Given the description of an element on the screen output the (x, y) to click on. 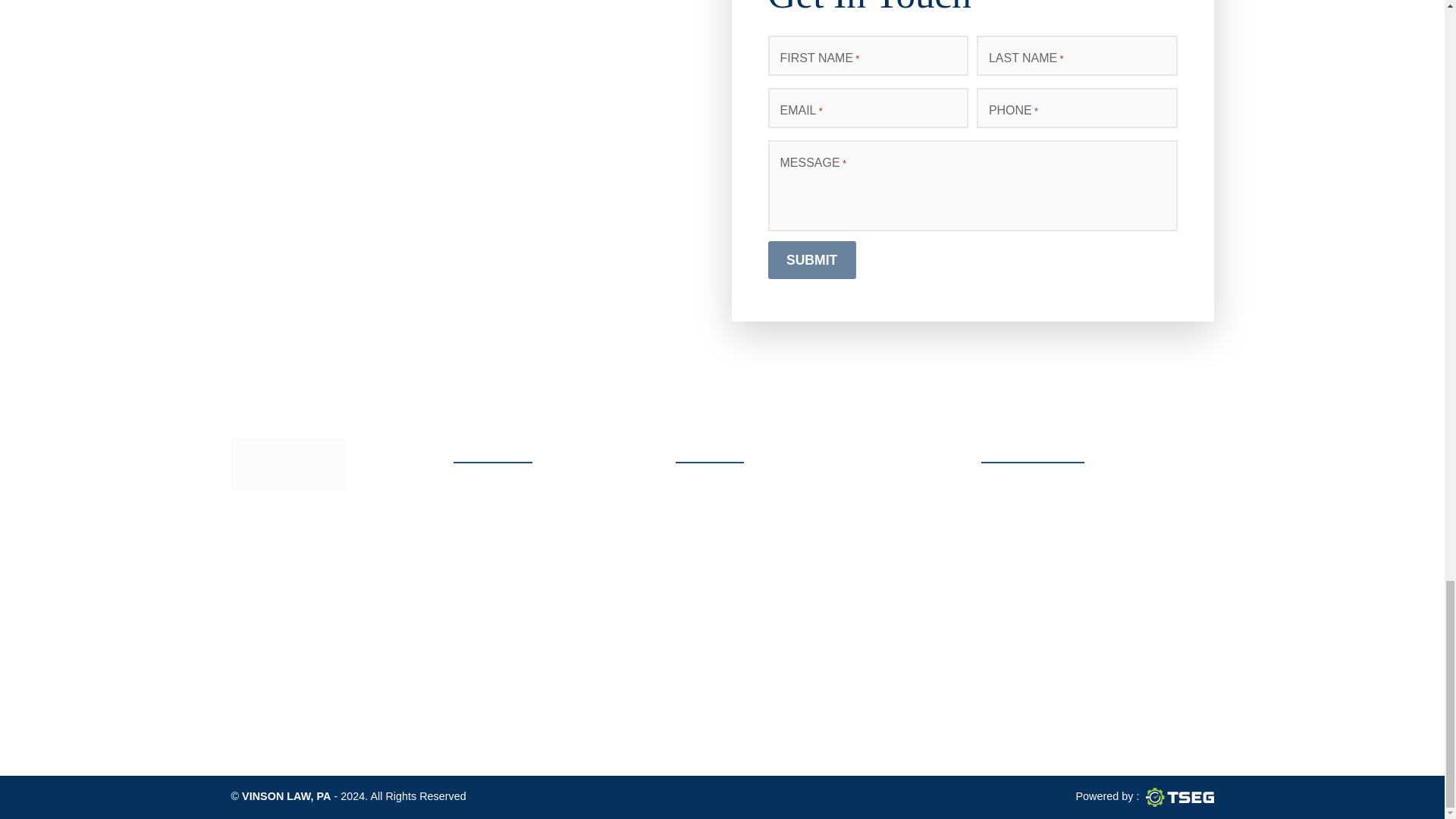
Submit (811, 259)
